Given the description of an element on the screen output the (x, y) to click on. 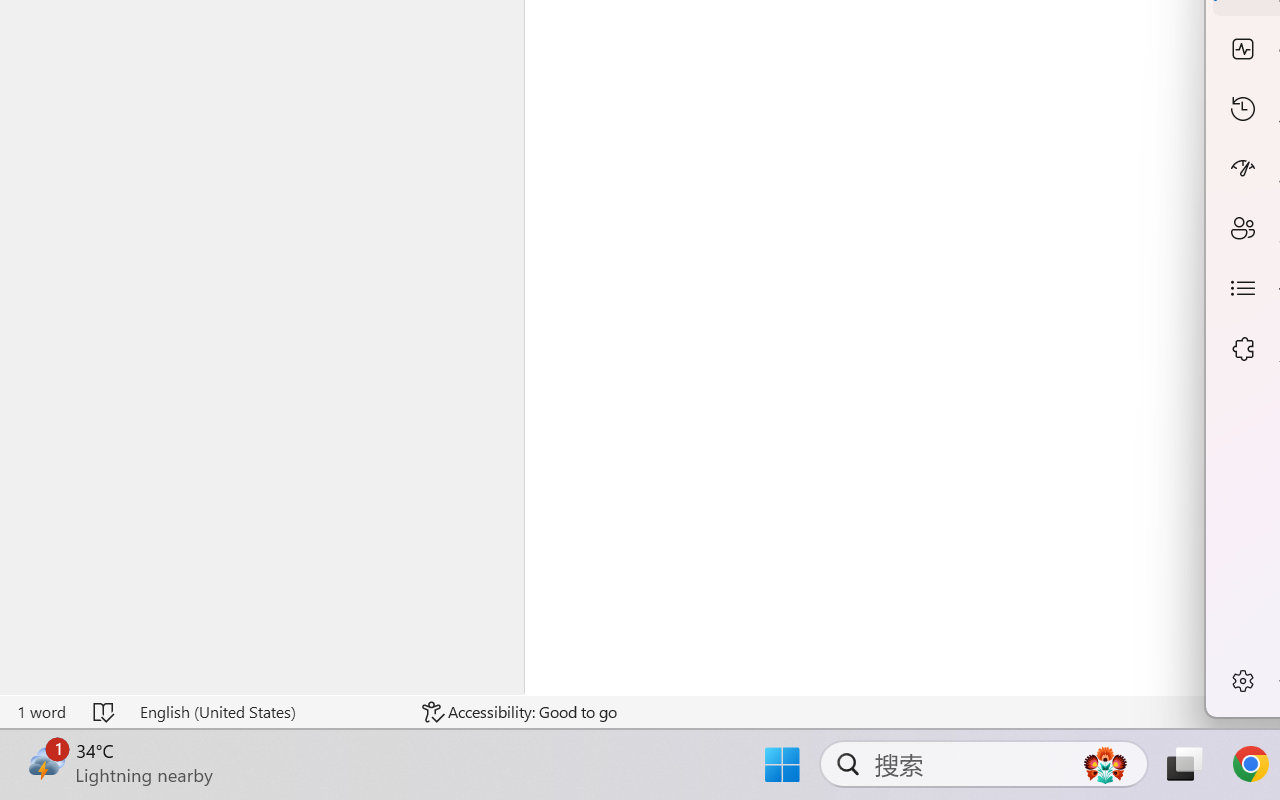
Spelling and Grammar Check No Errors (105, 712)
Word Count 1 word (41, 712)
Language English (United States) (267, 712)
